Given the description of an element on the screen output the (x, y) to click on. 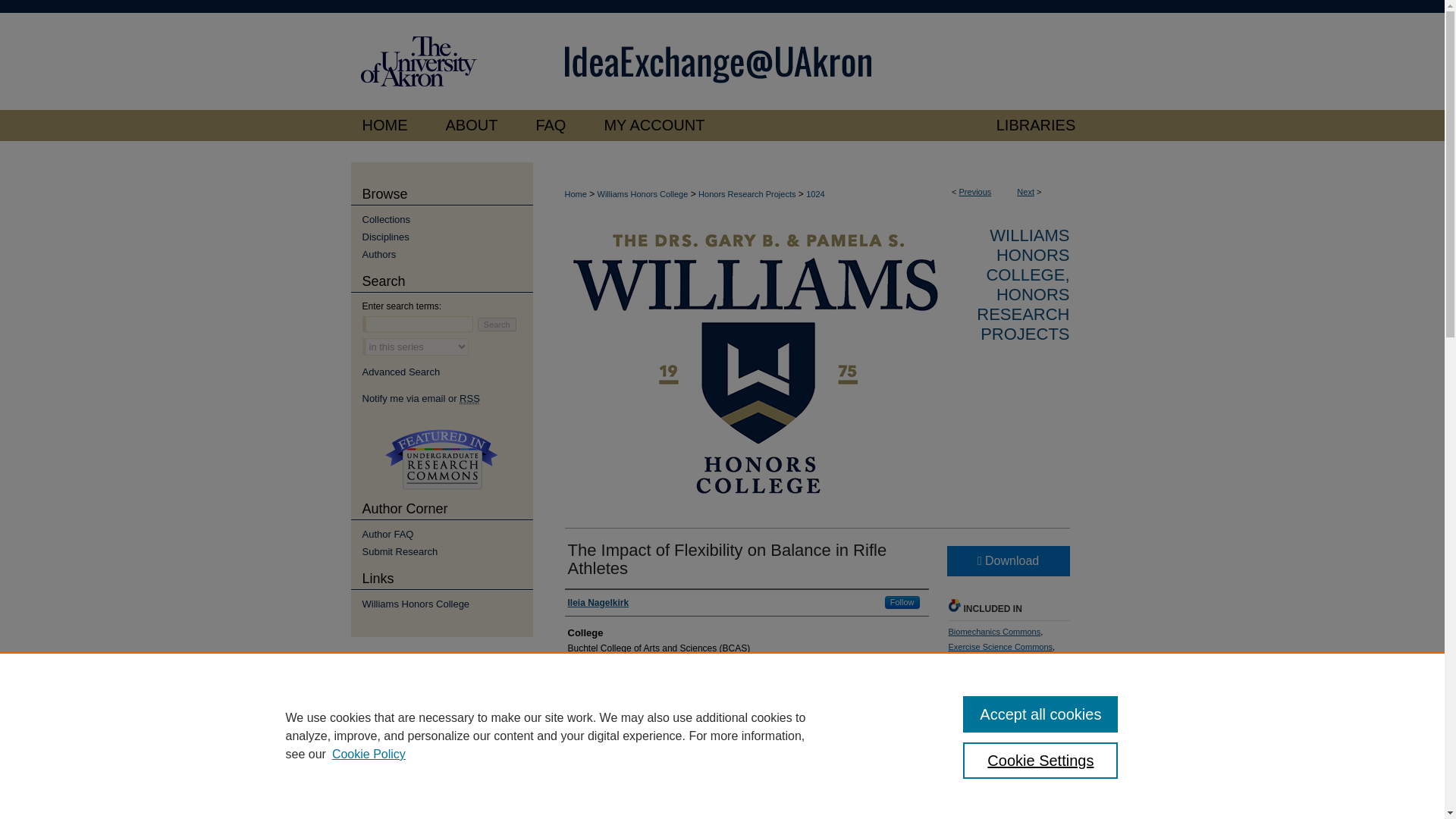
Exercise Science Commons (999, 646)
About (471, 124)
Facebook (958, 754)
Search (496, 324)
Biomechanics Commons (994, 631)
Other Kinesiology Commons (1005, 669)
Follow (902, 602)
Motor Control Commons (993, 661)
Follow Ileia Nagelkirk (902, 602)
Biomechanics Commons (994, 631)
Home (388, 124)
WhatsApp (1006, 754)
Home (575, 194)
HOME (388, 124)
FAQ (550, 124)
